Given the description of an element on the screen output the (x, y) to click on. 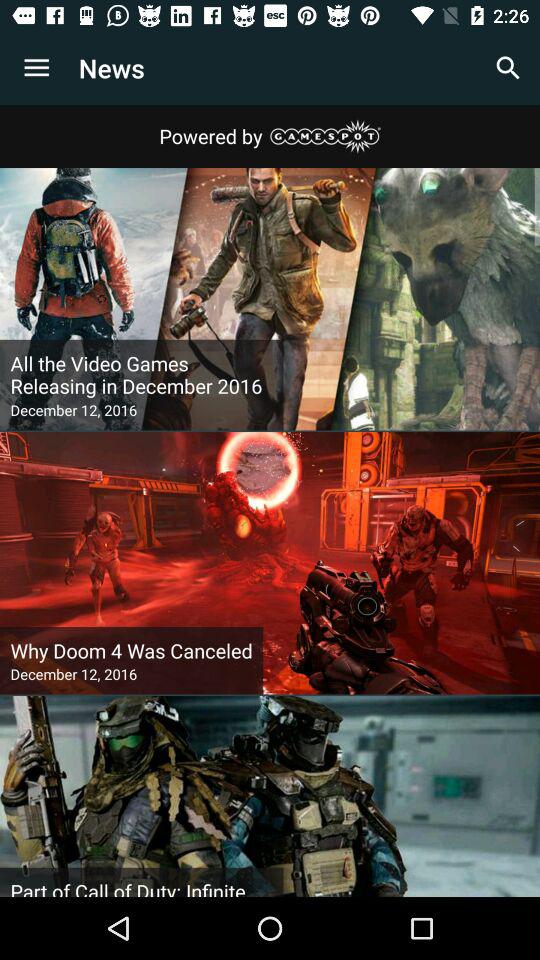
tap the icon above december 12, 2016 icon (141, 375)
